Given the description of an element on the screen output the (x, y) to click on. 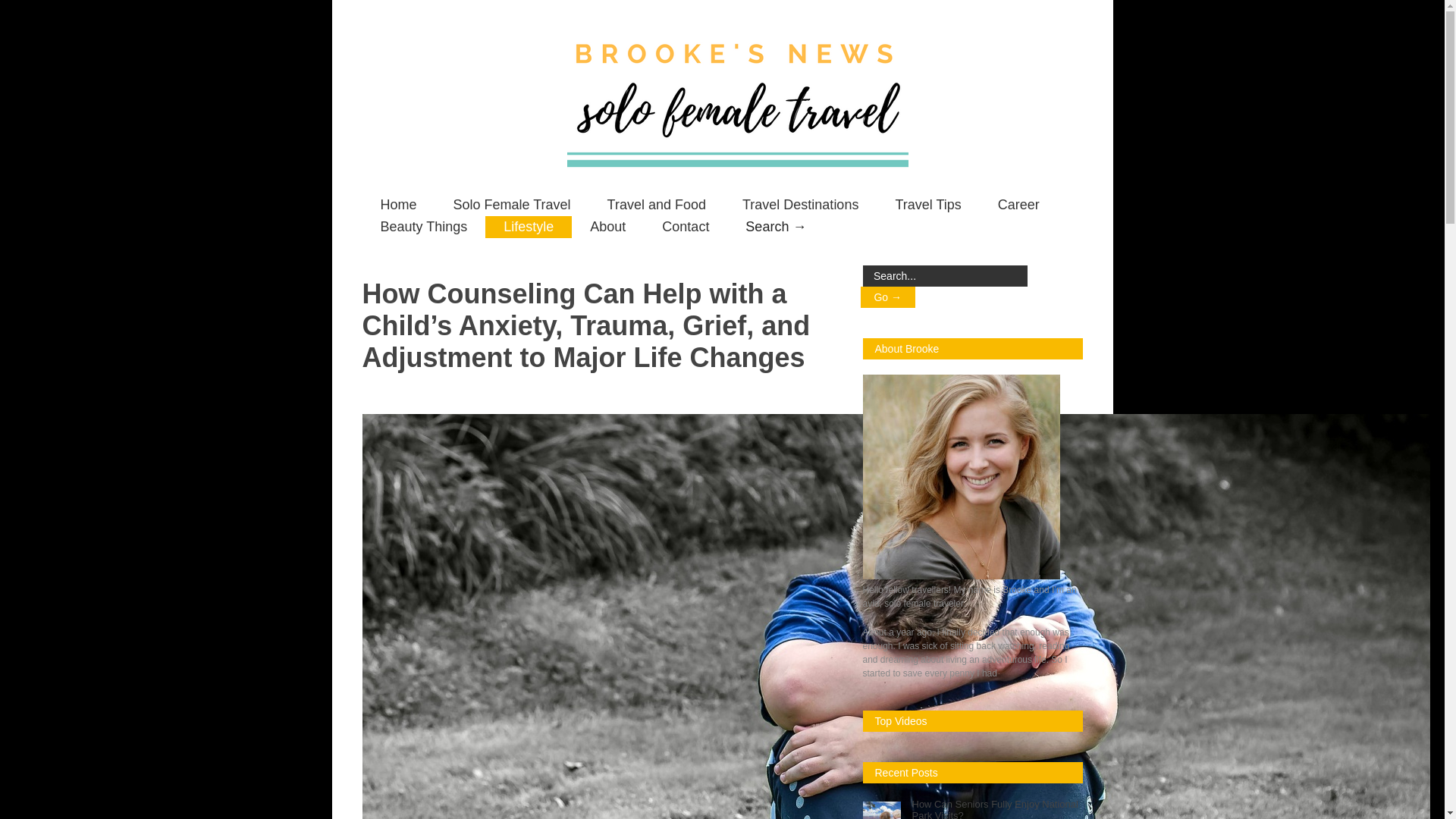
Travel Tips (927, 205)
Search... (945, 275)
Contact (684, 227)
Beauty Things (424, 227)
Travel and Food (656, 205)
Solo Female Travel (512, 205)
Search... (945, 275)
Career (1018, 205)
How Can Seniors Fully Enjoy National Park Visits? (994, 809)
About (607, 227)
Lifestyle (528, 227)
How Can Seniors Fully Enjoy National Park Visits? (994, 809)
Travel Destinations (799, 205)
Home (398, 205)
